Given the description of an element on the screen output the (x, y) to click on. 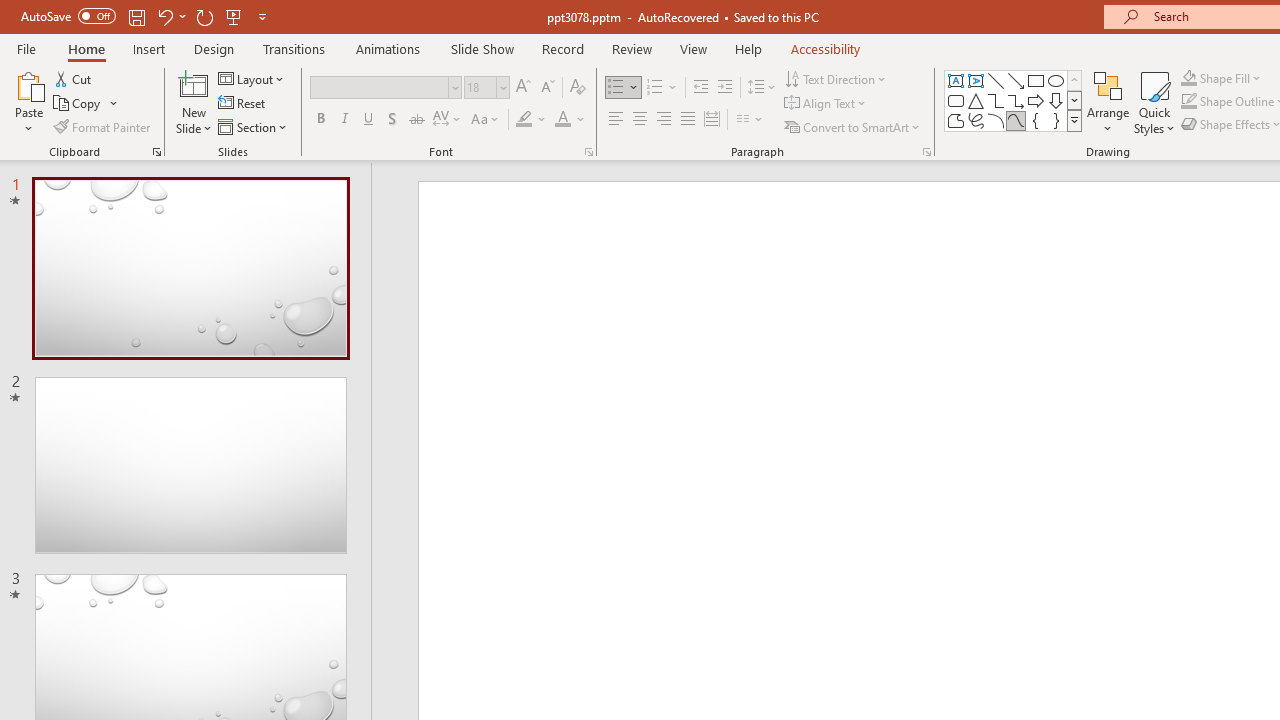
Tools (127, 19)
